Given the description of an element on the screen output the (x, y) to click on. 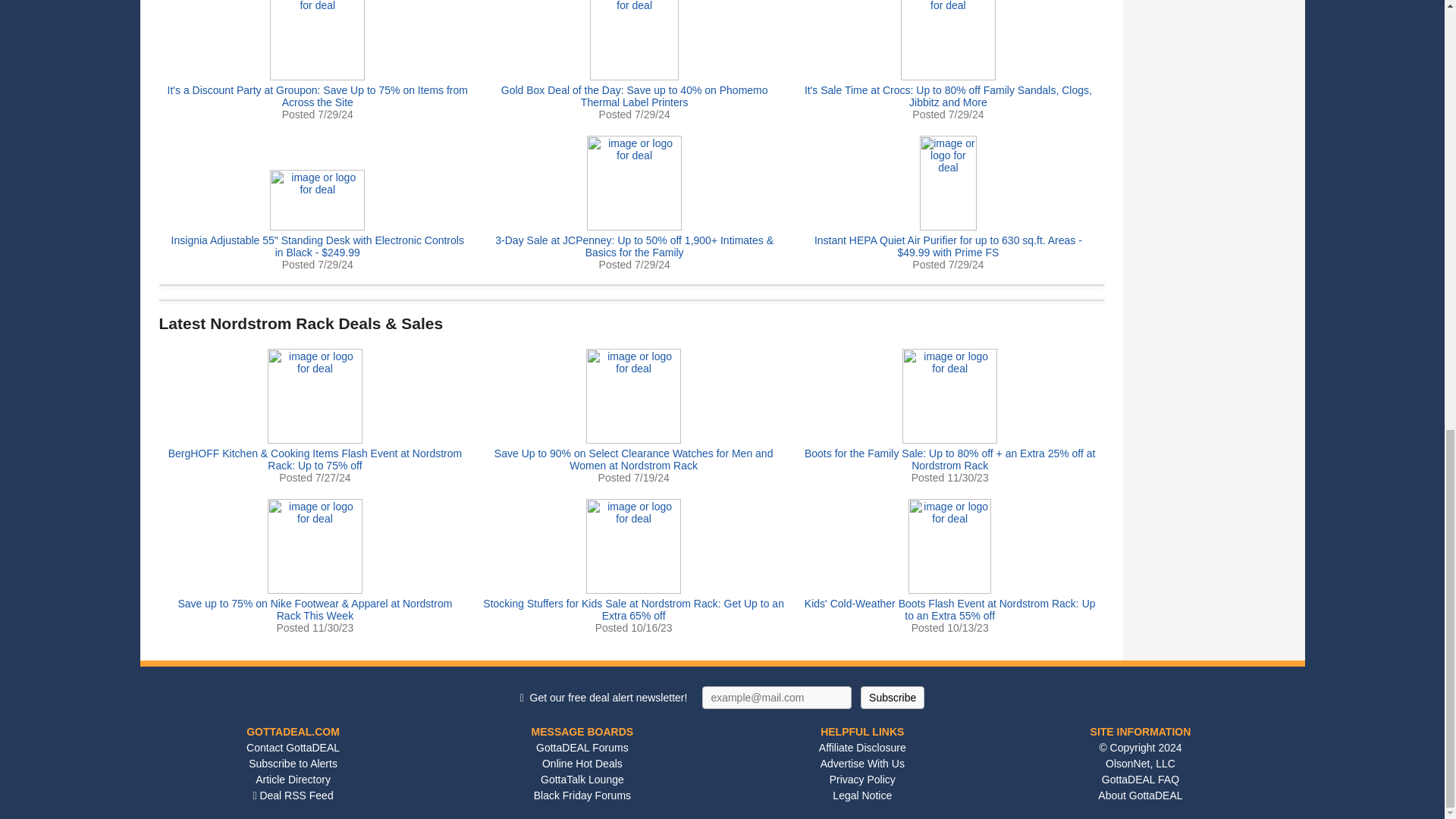
Subscribe (892, 697)
